Given the description of an element on the screen output the (x, y) to click on. 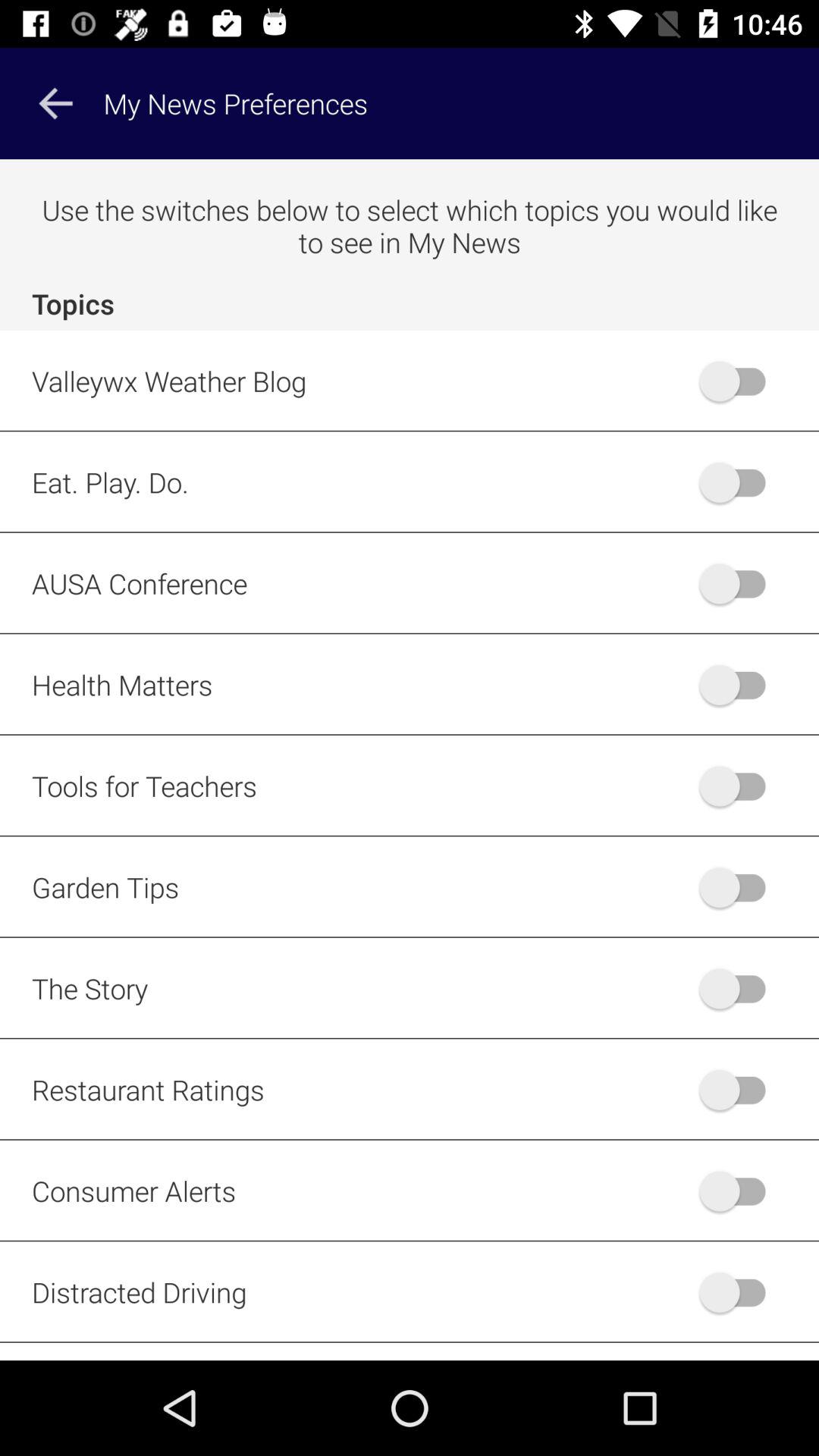
launch item to the left of the my news preferences (55, 103)
